Given the description of an element on the screen output the (x, y) to click on. 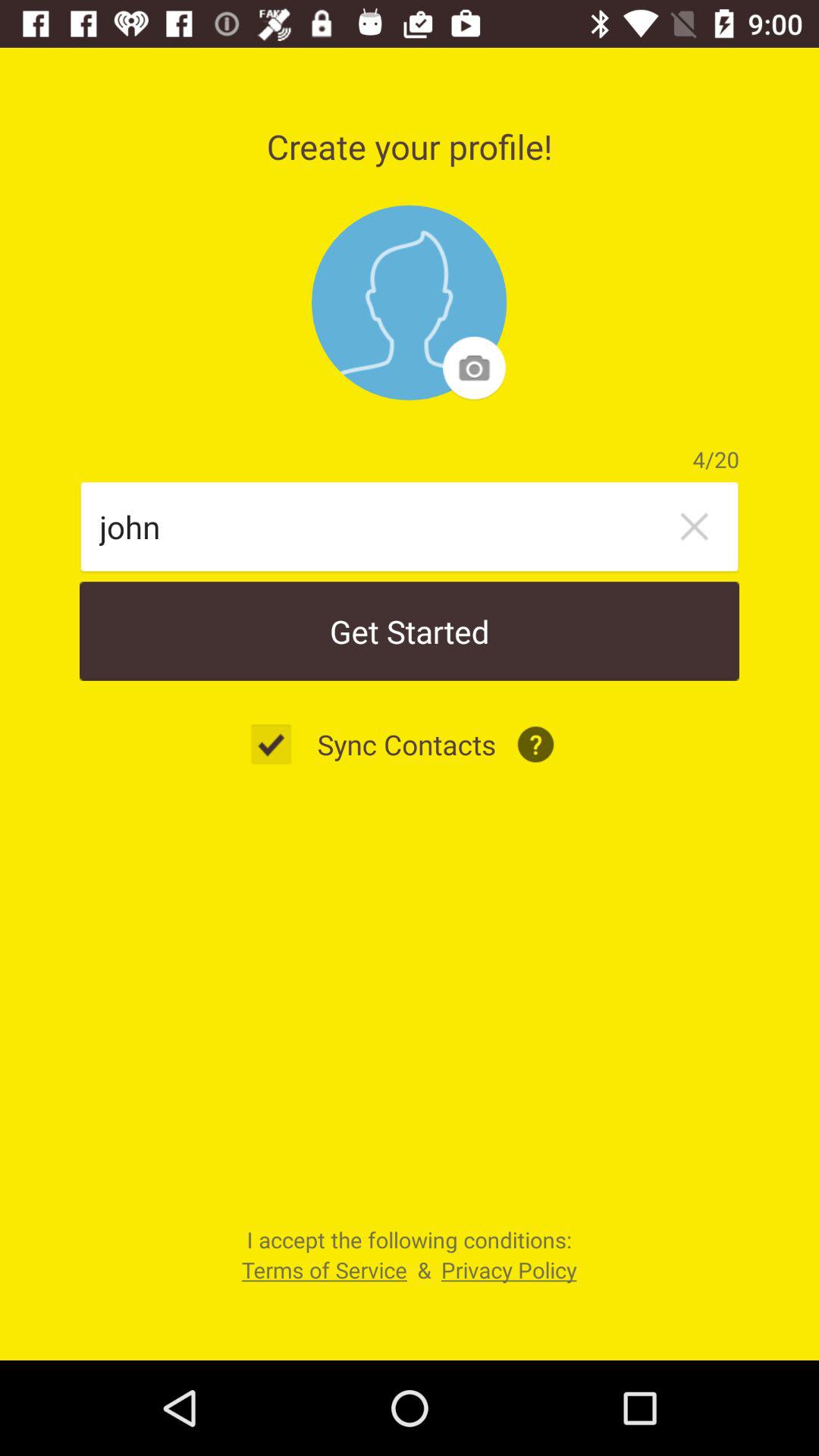
click icon above get started (384, 526)
